Given the description of an element on the screen output the (x, y) to click on. 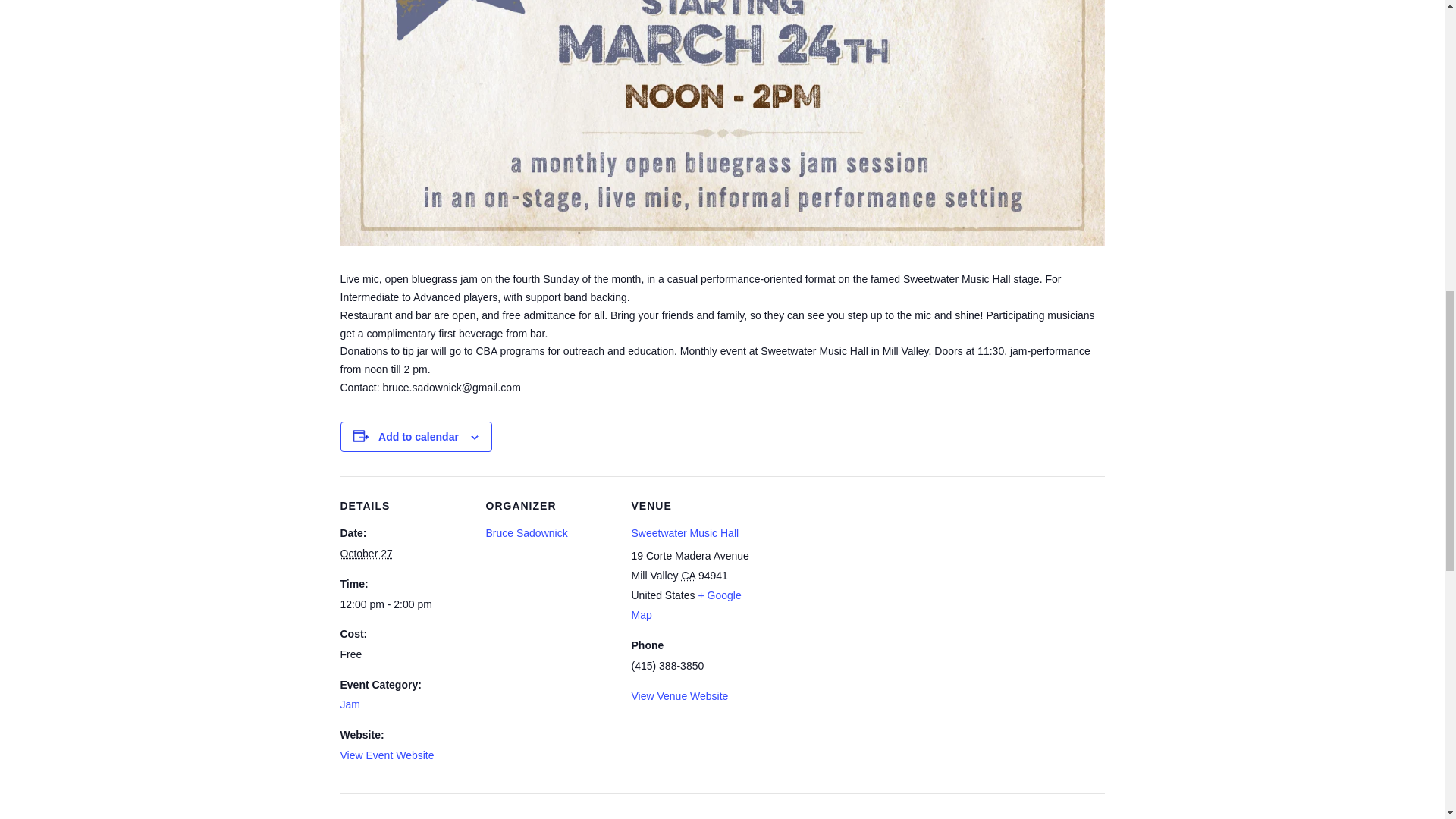
2024-10-27 (403, 605)
2024-10-27 (365, 553)
Bruce Sadownick (525, 532)
Click to view a Google Map (685, 604)
